Given the description of an element on the screen output the (x, y) to click on. 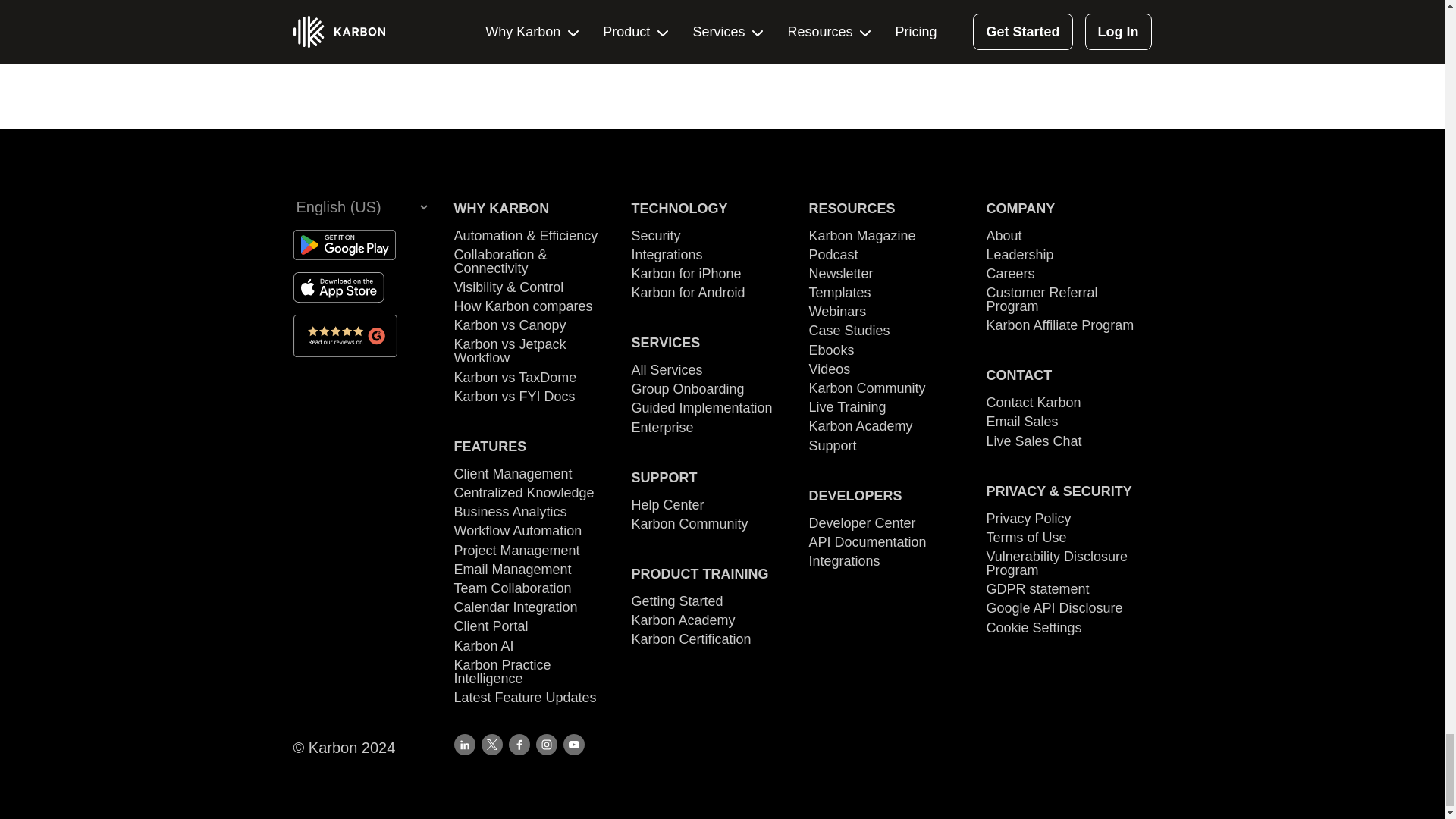
Karbon on YouTube (572, 744)
Karbon on facebook (518, 744)
Karbon on LinkedIn (463, 744)
